Given the description of an element on the screen output the (x, y) to click on. 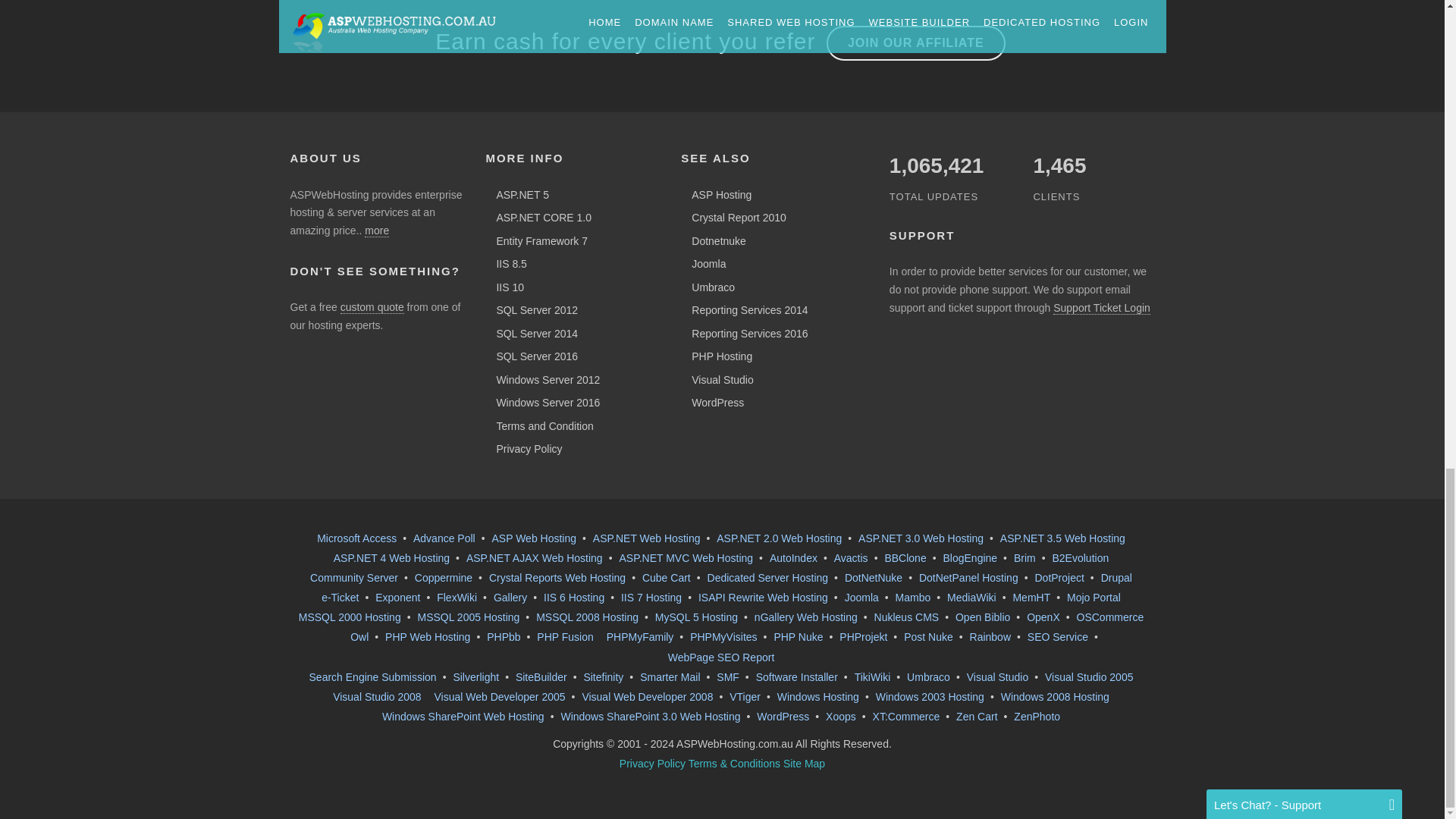
IIS 10 (505, 287)
IIS 8.5 (506, 263)
Windows Server 2016 (543, 402)
more (376, 230)
SQL Server 2016 (532, 356)
Terms and Condition (539, 425)
Crystal Report 2010 (735, 217)
Windows Server 2012 (543, 379)
SQL Server 2014 (532, 332)
SQL Server 2012 (532, 309)
